Given the description of an element on the screen output the (x, y) to click on. 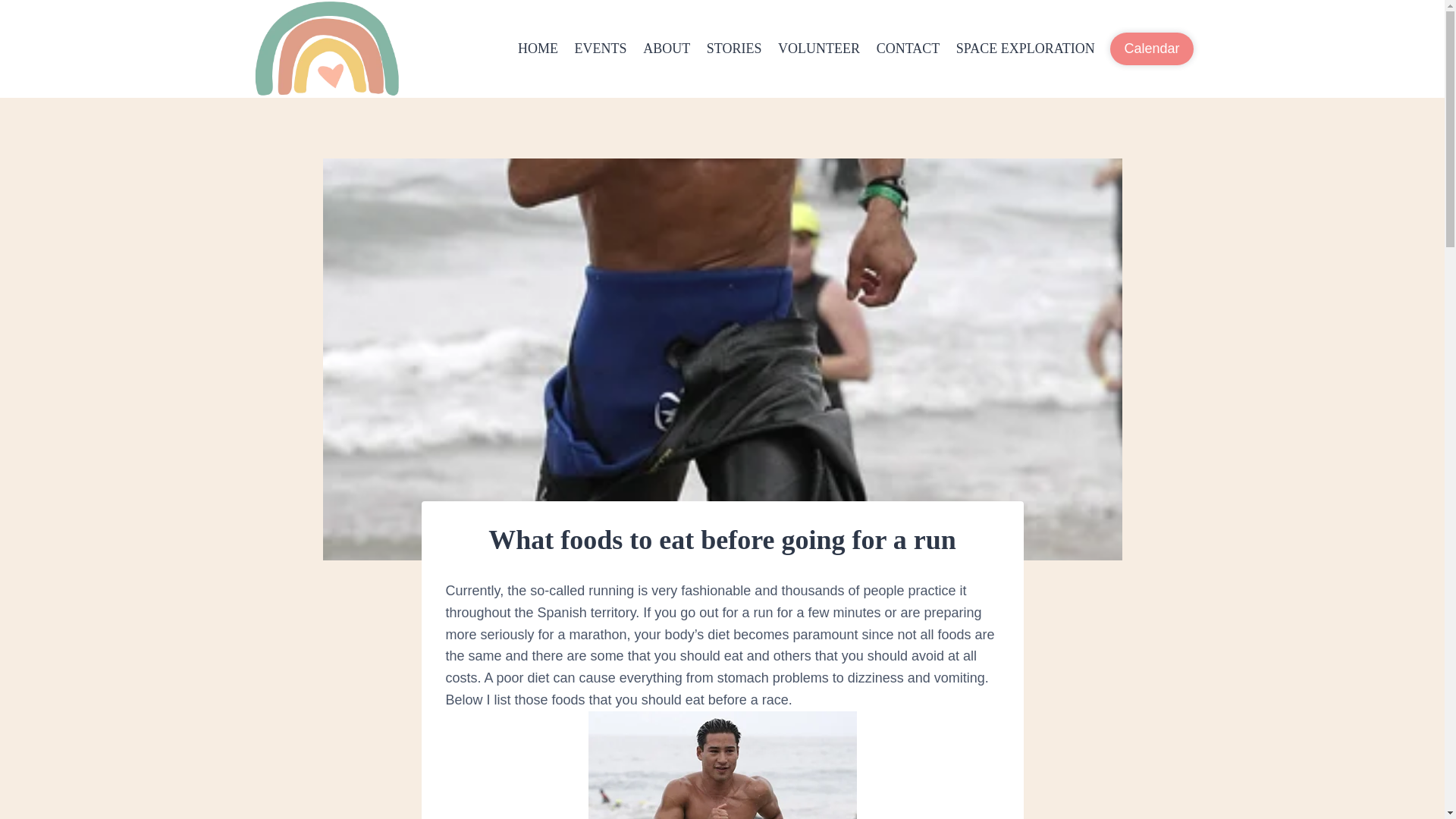
STORIES (734, 48)
Calendar (1150, 48)
EVENTS (600, 48)
HOME (537, 48)
CONTACT (907, 48)
ABOUT (666, 48)
VOLUNTEER (818, 48)
SPACE EXPLORATION (1024, 48)
